Given the description of an element on the screen output the (x, y) to click on. 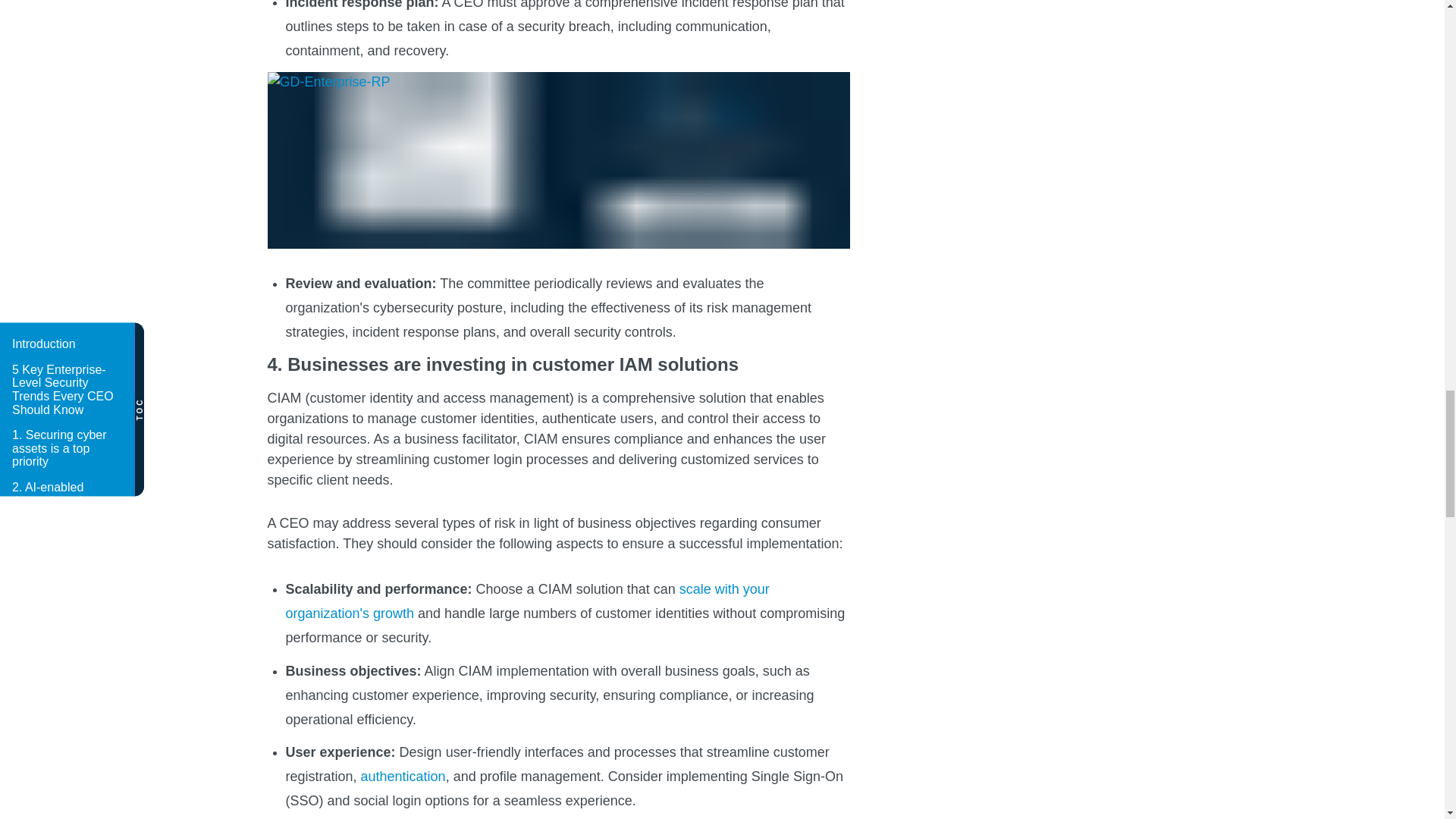
GD-Enterprise-RP (557, 160)
authentication (403, 776)
scale with your organization's growth (526, 600)
